Given the description of an element on the screen output the (x, y) to click on. 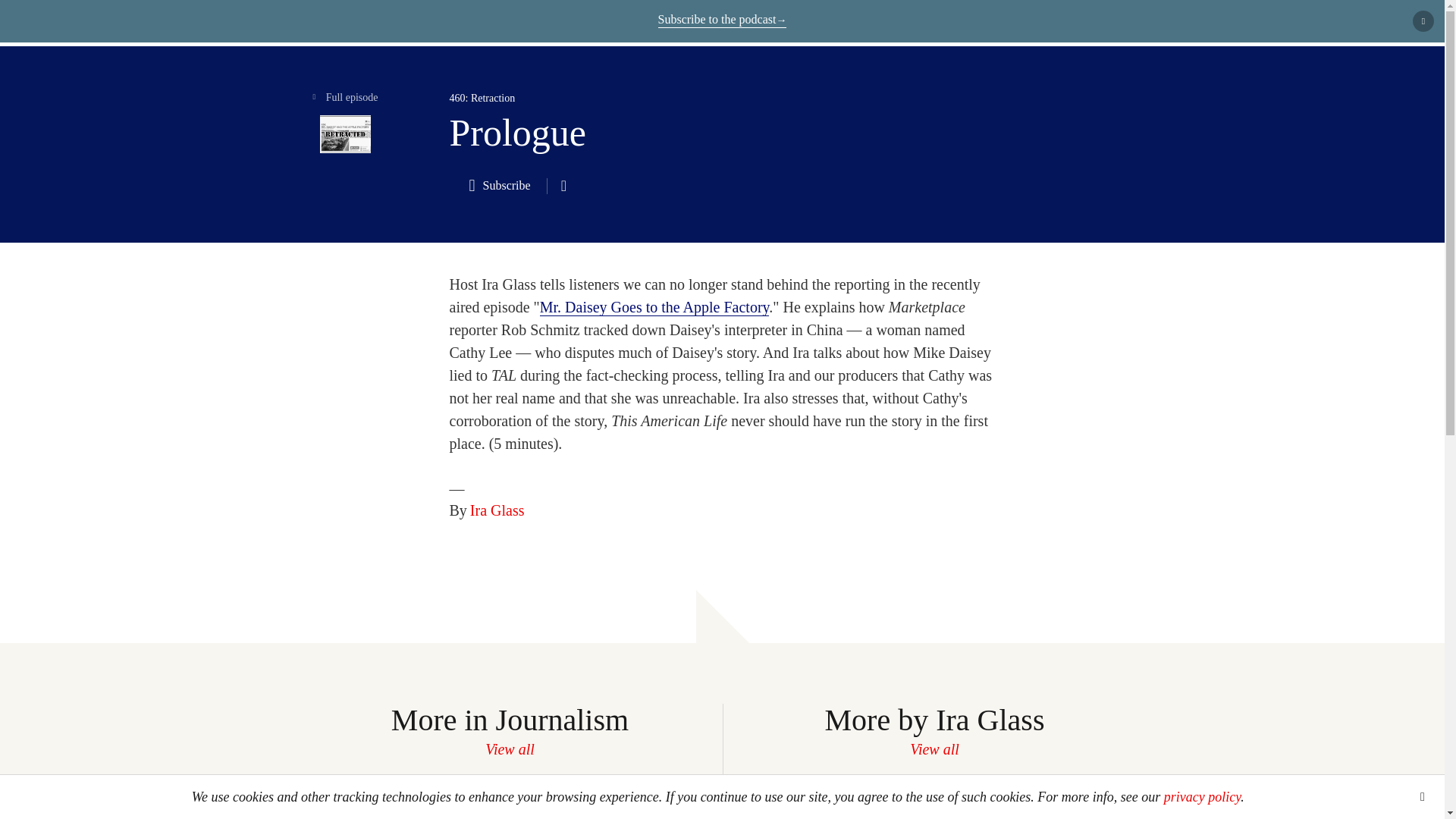
privacy policy (1201, 796)
This American Life (312, 23)
Full episode (345, 122)
